Given the description of an element on the screen output the (x, y) to click on. 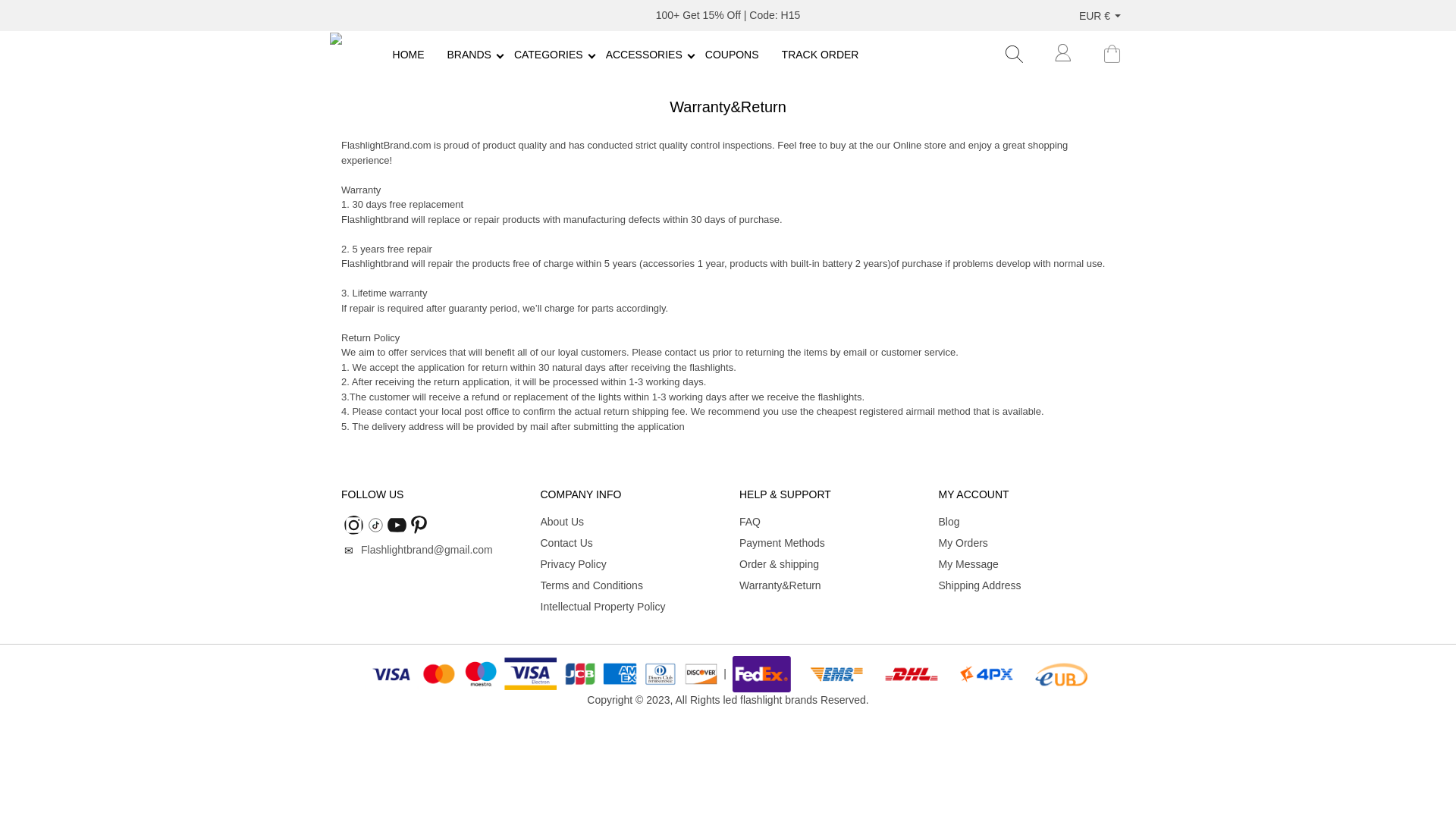
BRANDS (469, 55)
Brands (632, 55)
CATEGORIES (469, 55)
